Given the description of an element on the screen output the (x, y) to click on. 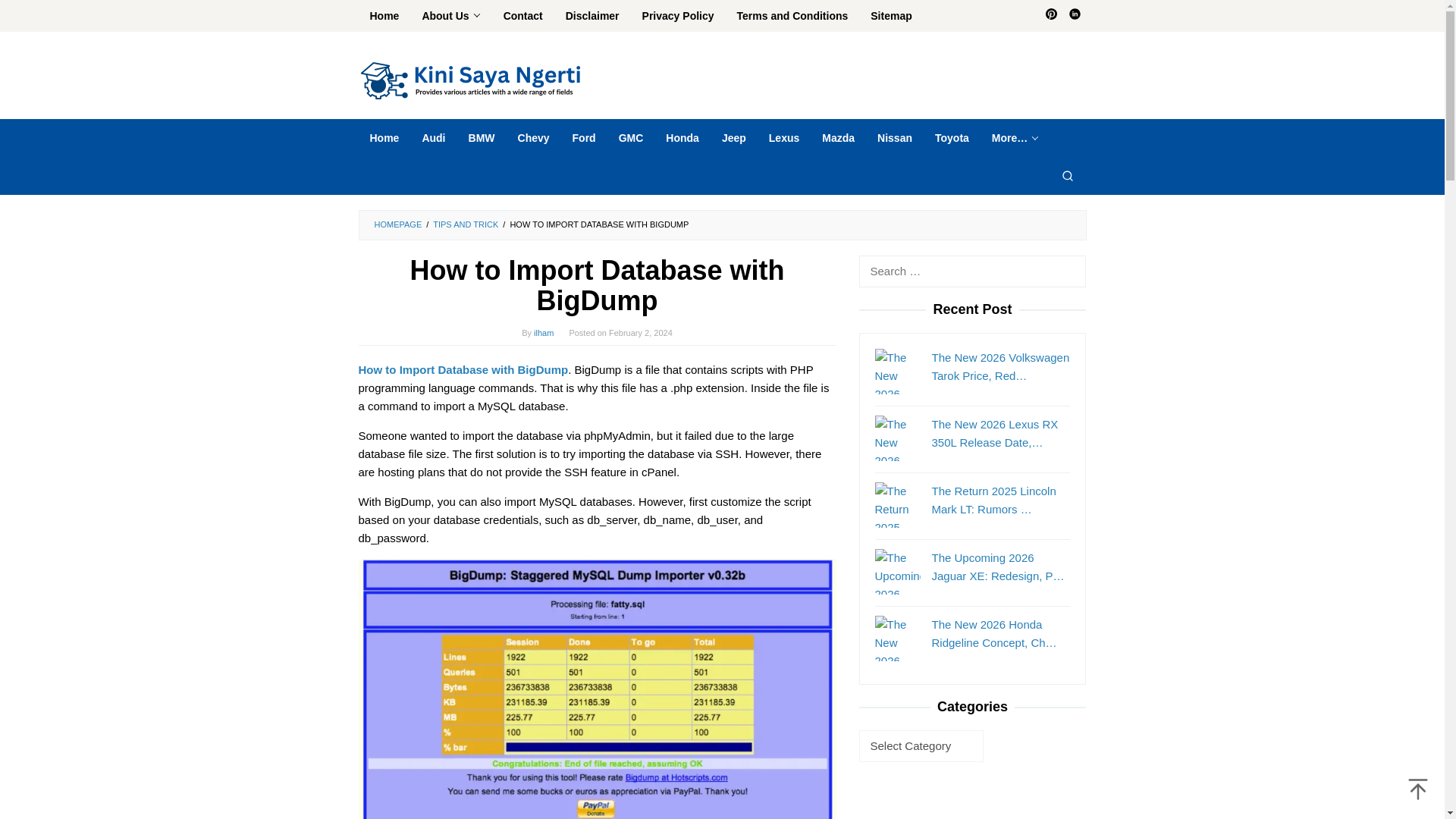
Ford (583, 137)
Home (384, 137)
Home (384, 15)
Privacy Policy (677, 15)
Saya Ngerti (471, 81)
BMW (481, 137)
Disclaimer (592, 15)
About Us (451, 15)
Permalink to: ilham (543, 332)
Nissan (894, 137)
